Given the description of an element on the screen output the (x, y) to click on. 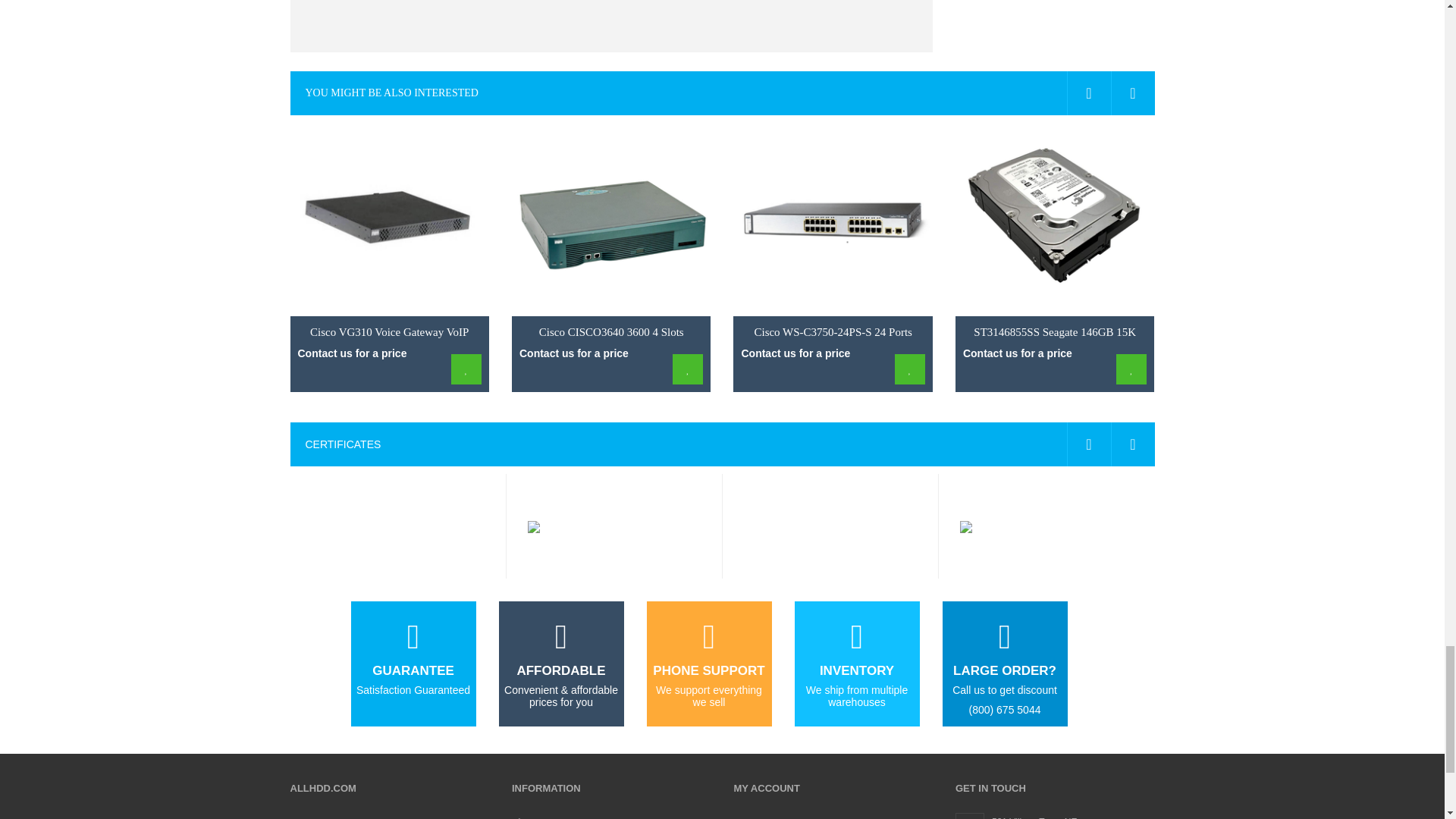
Seagate ST3146855SS 146GB Hard Disk Drive (1054, 219)
Cisco VG310 VoIP Phone Adapter (388, 219)
Add to Wishlist (687, 368)
Cisco CISCO3640 4 Slot Networking Router (611, 219)
Add to Wishlist (1131, 368)
Add to Wishlist (466, 368)
Add to Wishlist (909, 368)
Cisco WS-C3750-24PS-S Managed Switch (832, 219)
